Given the description of an element on the screen output the (x, y) to click on. 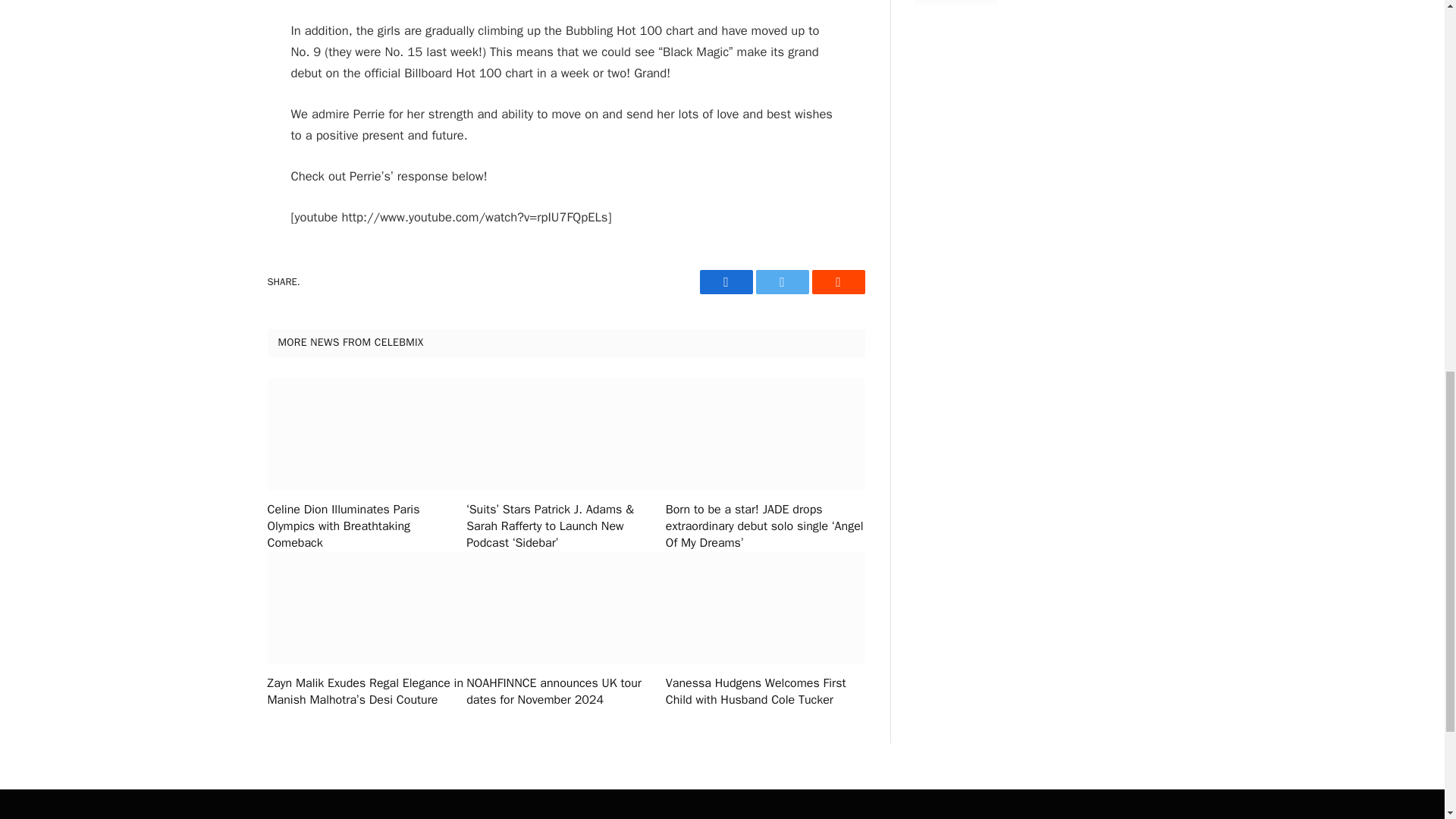
Share on Facebook (725, 282)
Facebook (725, 282)
NOAHFINNCE announces UK tour dates for November 2024 (565, 692)
Reddit (837, 282)
Twitter (781, 282)
